Given the description of an element on the screen output the (x, y) to click on. 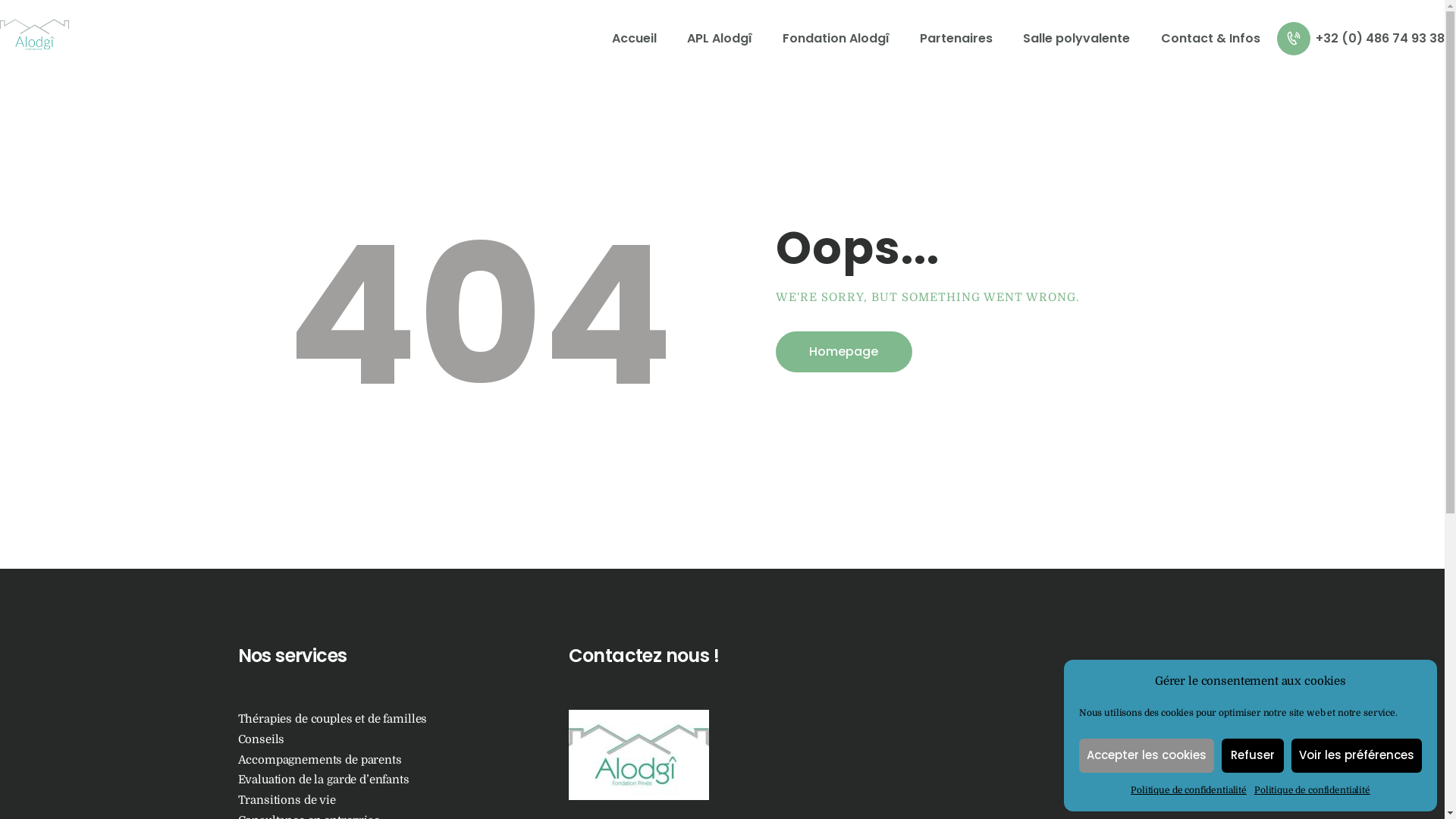
Contact & Infos Element type: text (1210, 37)
Accompagnements de parents Element type: text (319, 759)
Partenaires Element type: text (955, 37)
Transitions de vie Element type: text (286, 799)
Homepage Element type: text (843, 351)
Salle polyvalente Element type: text (1075, 37)
Conseils Element type: text (261, 739)
Accepter les cookies Element type: text (1146, 755)
Refuser Element type: text (1252, 755)
+32 (0) 486 74 93 38 Element type: text (1360, 38)
Accueil Element type: text (633, 37)
